Given the description of an element on the screen output the (x, y) to click on. 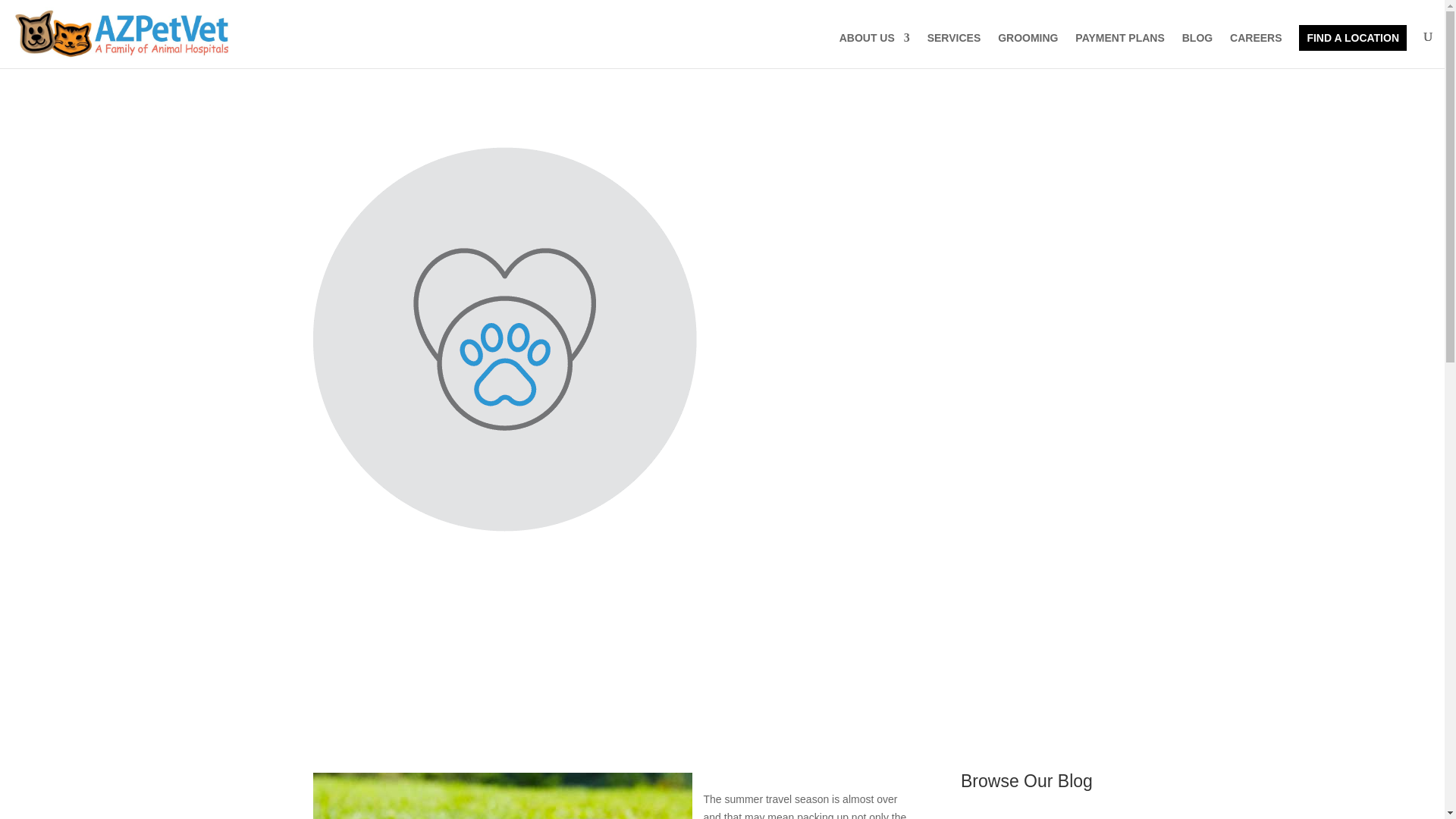
ABOUT US (875, 49)
SERVICES (954, 49)
CAREERS (1255, 49)
GROOMING (1027, 49)
Arizona Pet Health (757, 589)
puppy (502, 796)
PAYMENT PLANS (1119, 49)
FIND A LOCATION (1352, 37)
